Given the description of an element on the screen output the (x, y) to click on. 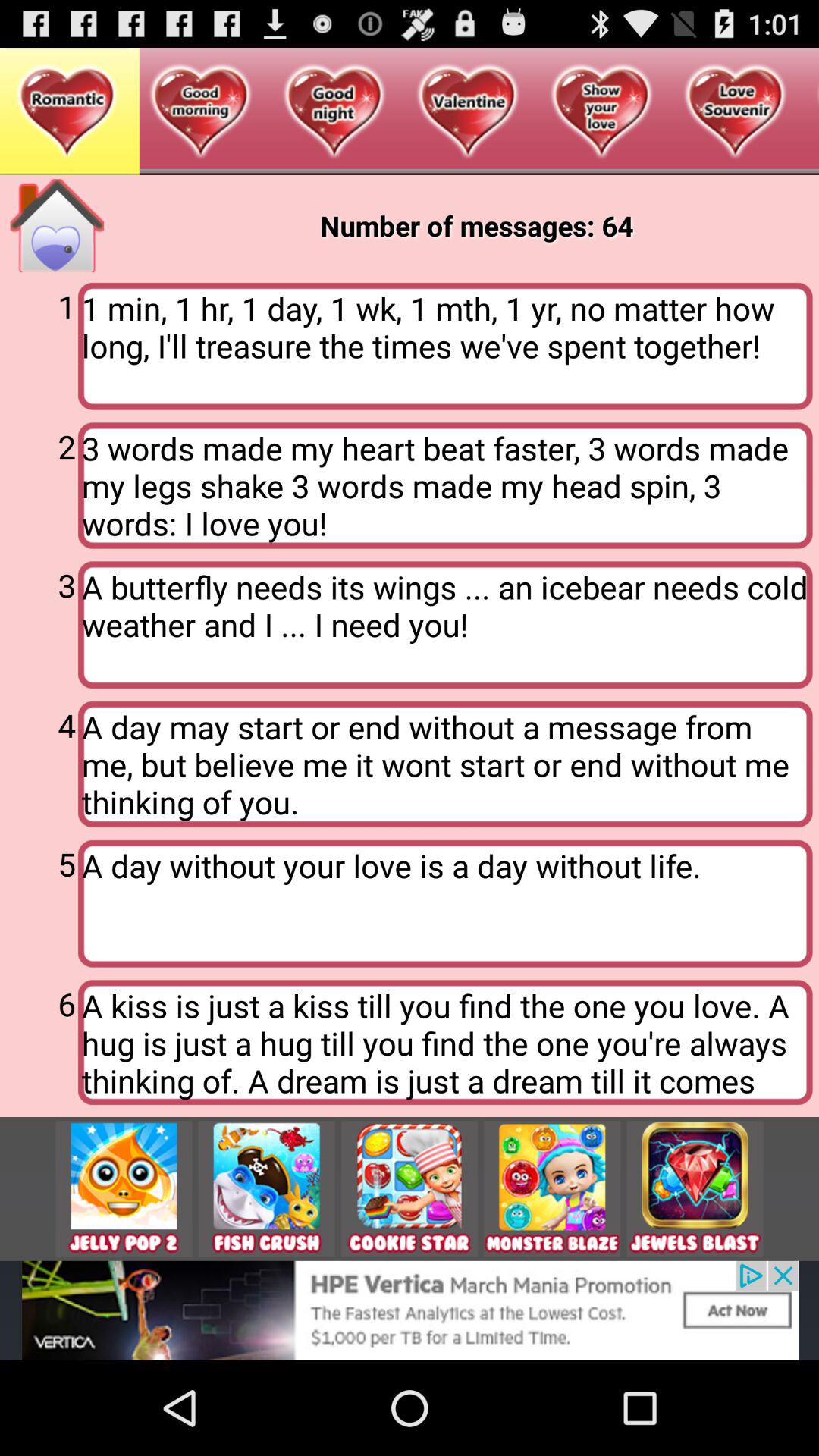
click on advertisement (409, 1188)
